Given the description of an element on the screen output the (x, y) to click on. 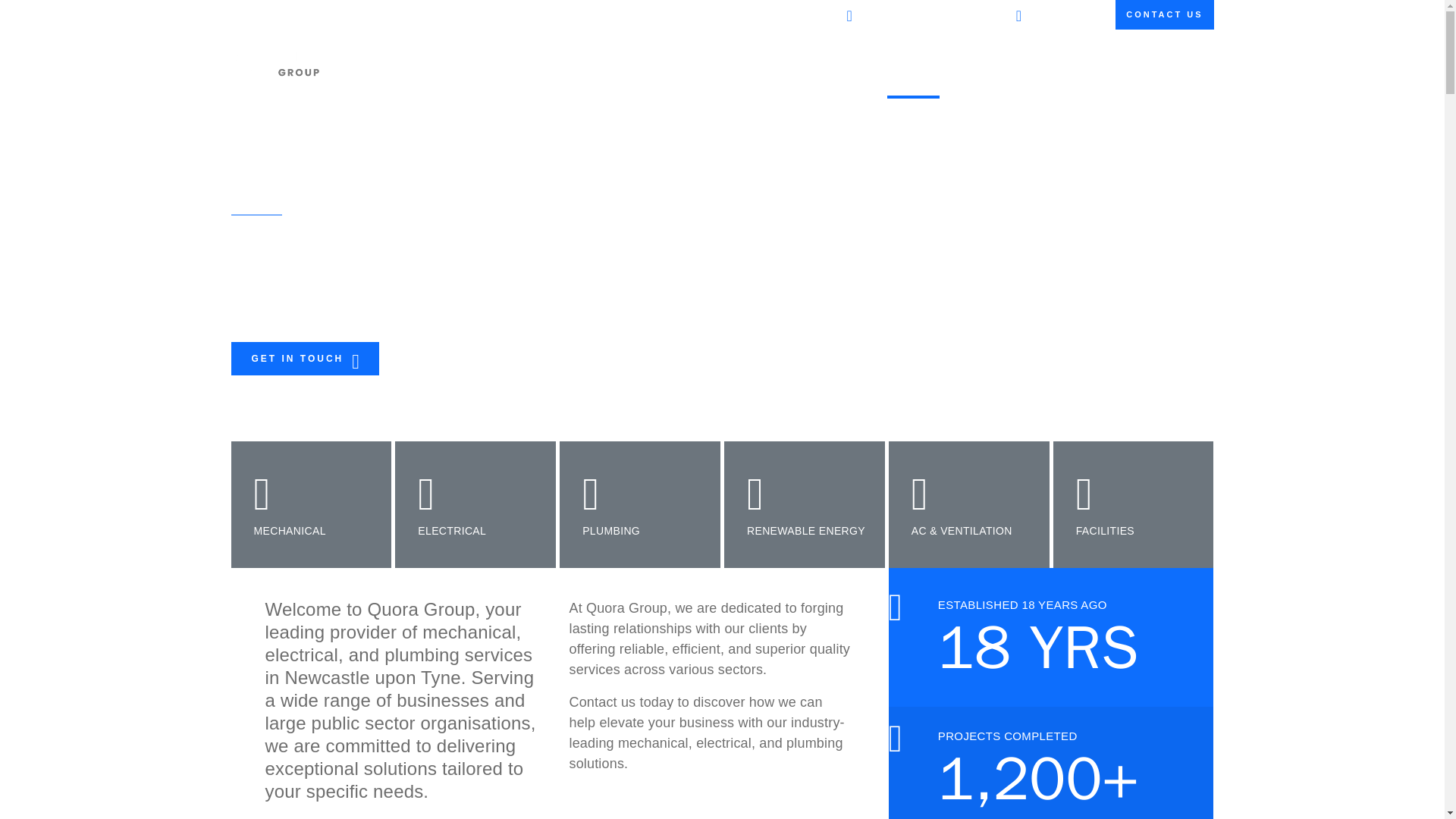
Case Studies (1049, 65)
Services (1047, 65)
0191 257 3527 (971, 65)
PLUMBING (1062, 12)
GET IN TOUCH (611, 530)
CONTACT US (304, 358)
About Us (1163, 14)
RENEWABLE ENERGY (1125, 65)
MECHANICAL (805, 530)
